Given the description of an element on the screen output the (x, y) to click on. 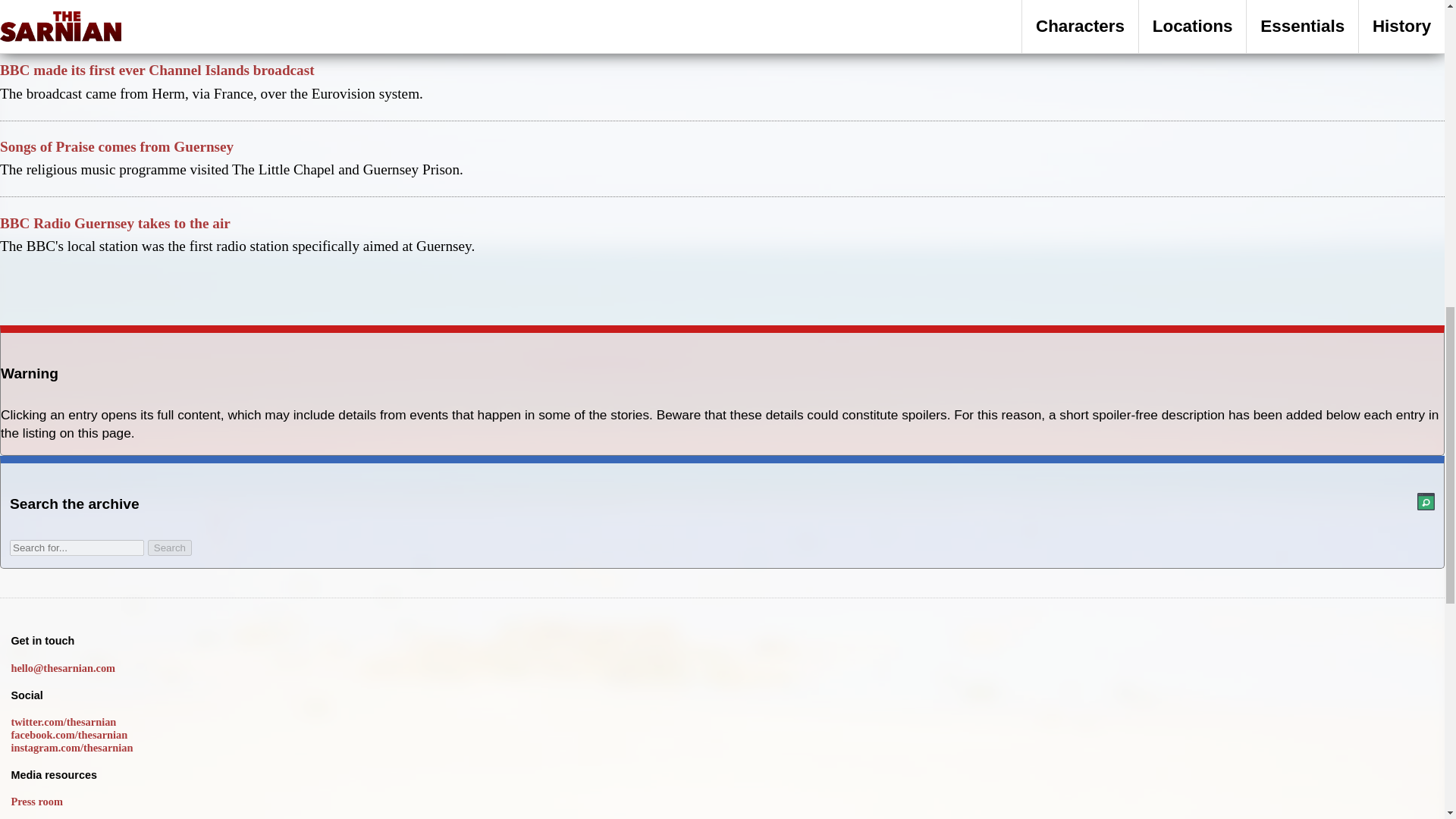
BBC made its first ever Channel Islands broadcast (157, 69)
Songs of Praise comes from Guernsey (116, 146)
Search (170, 547)
Press room (36, 801)
BBC Radio Guernsey takes to the air (115, 222)
Search (170, 547)
